Given the description of an element on the screen output the (x, y) to click on. 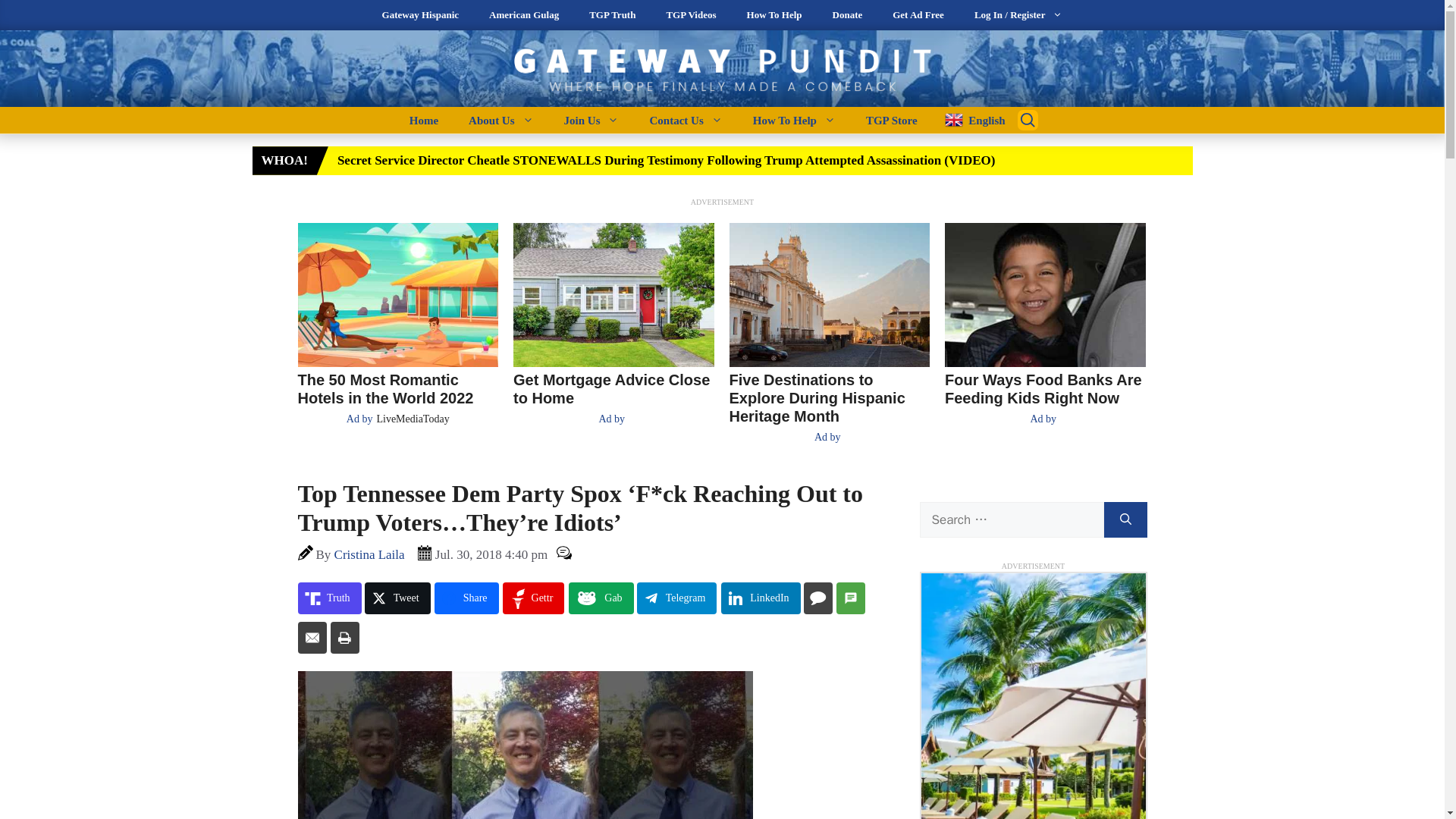
TGP Store (891, 120)
Share on Tweet (397, 598)
Donate (846, 15)
Share on Telegram (677, 598)
Share on Gettr (533, 598)
Share on Share (466, 598)
View all posts by Cristina Laila (369, 554)
How To Help (794, 120)
Share on Gab (601, 598)
TGP Videos (690, 15)
Get Ad Free (918, 15)
American Gulag (523, 15)
How To Help (774, 15)
Share on LinkedIn (759, 598)
